Given the description of an element on the screen output the (x, y) to click on. 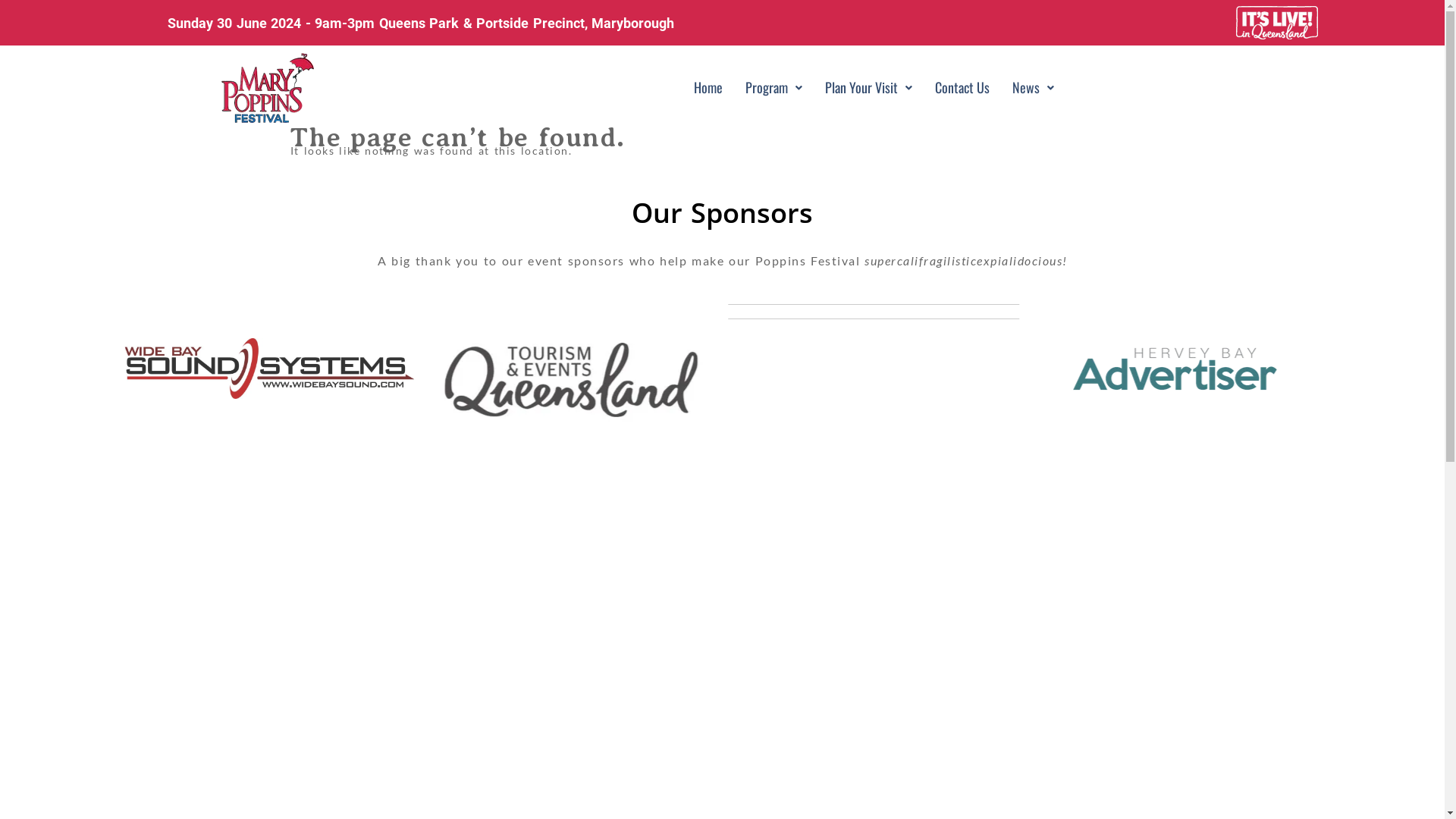
Plan Your Visit Element type: text (868, 87)
List Title Element type: hover (571, 379)
Title #2 Element type: hover (1175, 368)
Program Element type: text (773, 87)
List Title Element type: hover (873, 550)
News Element type: text (1033, 87)
Home Element type: text (708, 87)
List Title Element type: hover (268, 368)
Contact Us Element type: text (962, 87)
